Given the description of an element on the screen output the (x, y) to click on. 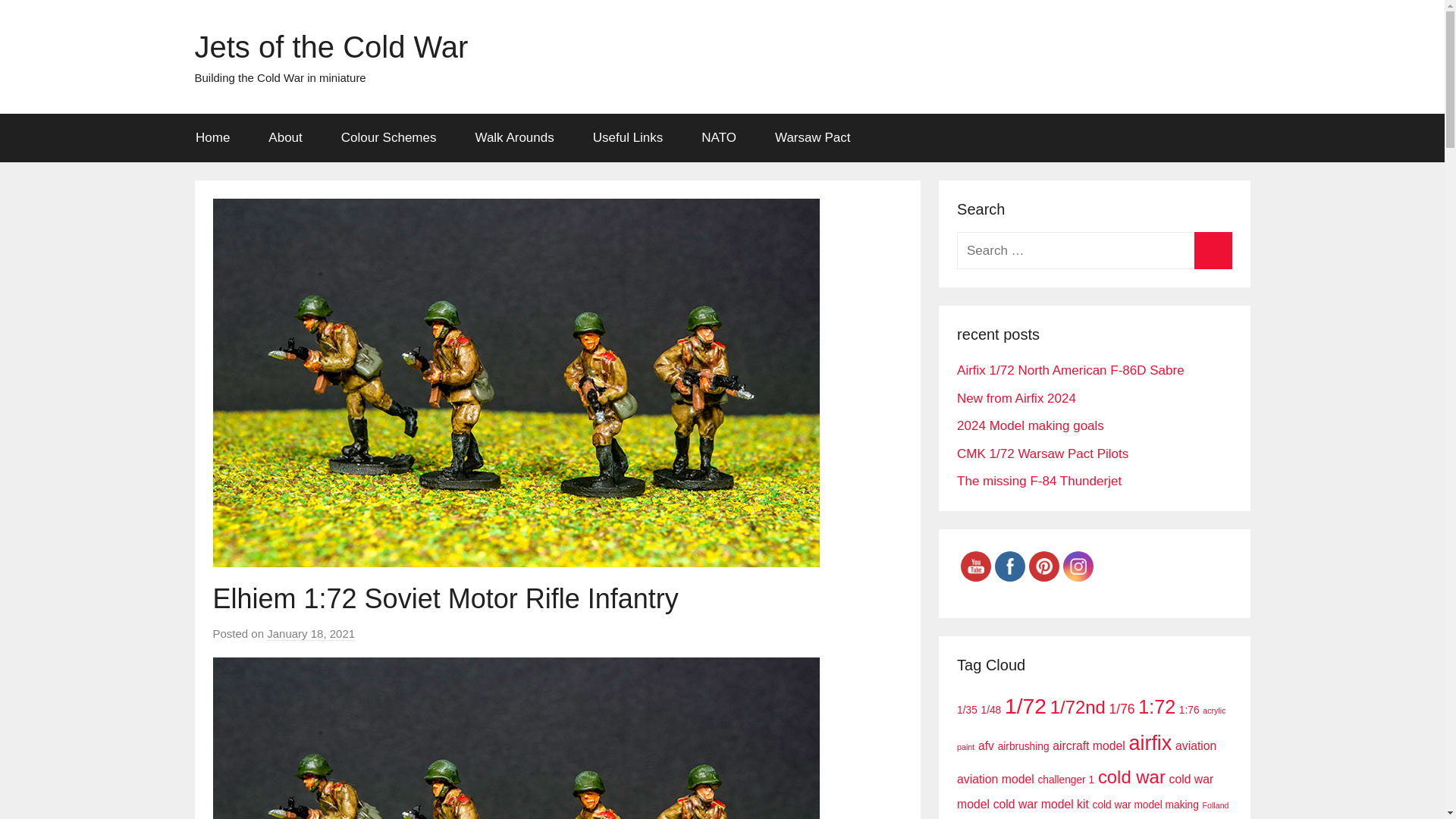
Home (212, 137)
Warsaw Pact (812, 137)
YouTube (976, 565)
Search for: (1093, 250)
NATO (718, 137)
Pinterest (1043, 565)
Jets of the Cold War (330, 46)
Colour Schemes (388, 137)
Walk Arounds (514, 137)
The missing F-84 Thunderjet (1038, 481)
About (284, 137)
Search (1212, 250)
Useful Links (627, 137)
Facebook (1009, 565)
New from Airfix 2024 (1015, 398)
